Given the description of an element on the screen output the (x, y) to click on. 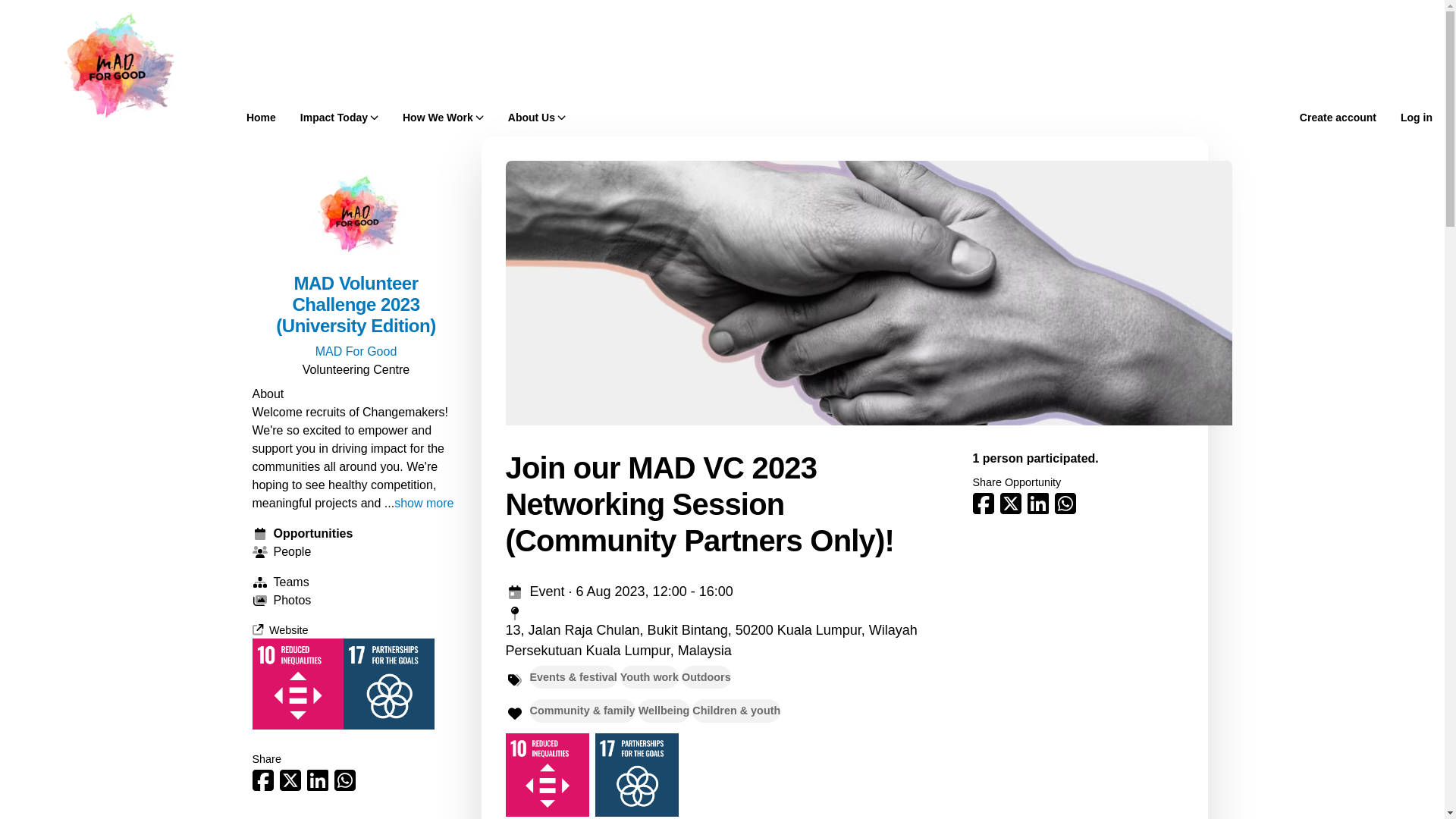
Teams (355, 582)
How We Work (443, 117)
Log in (1416, 117)
Opportunities (355, 533)
MAD For Good (356, 350)
Home (261, 117)
show more (423, 503)
About Us (537, 117)
Website (279, 630)
Photos (355, 600)
People (355, 551)
Create account (1337, 117)
Impact Today (338, 117)
